Given the description of an element on the screen output the (x, y) to click on. 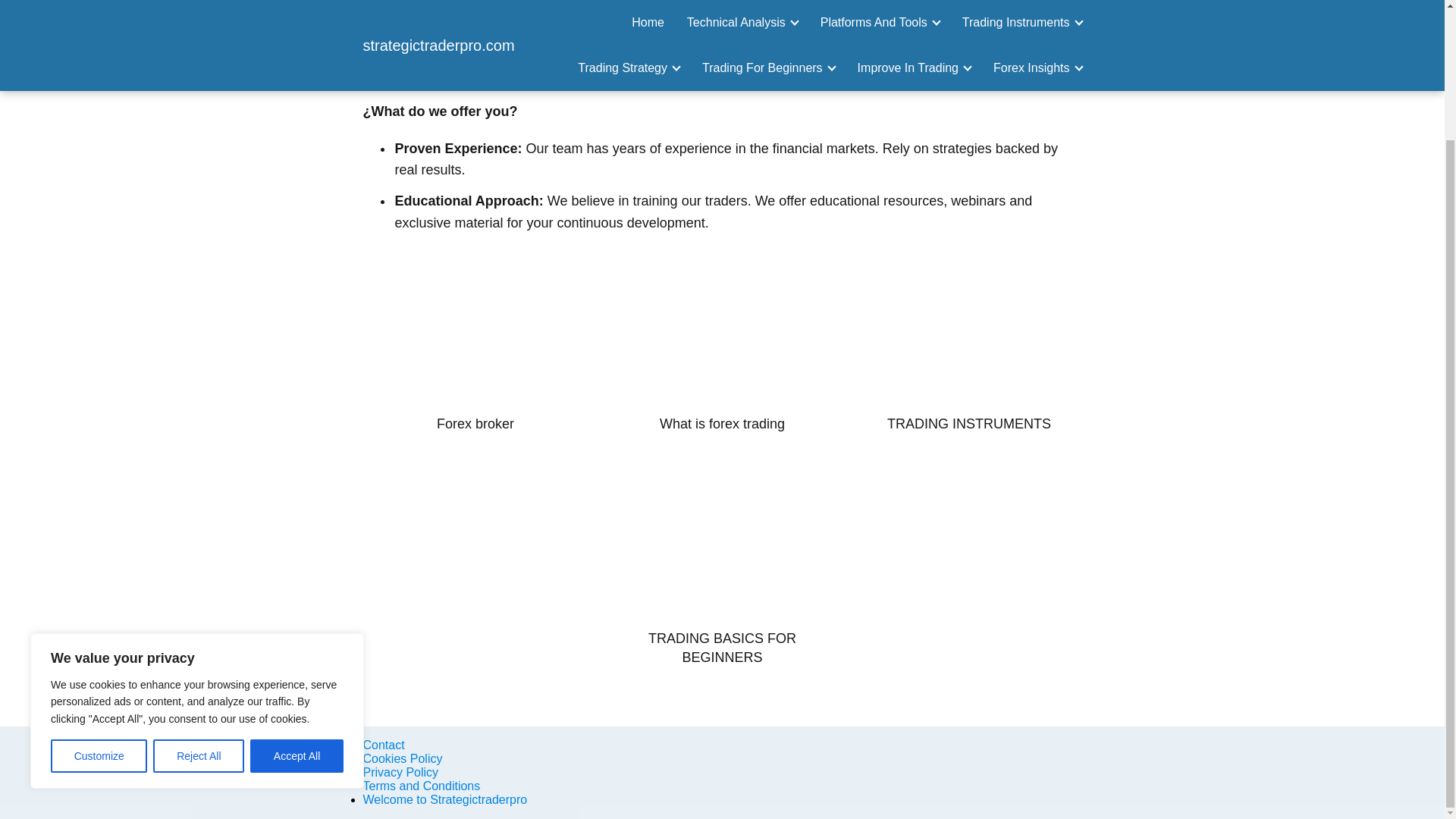
Reject All (198, 598)
Customize (98, 598)
Accept All (296, 598)
